Given the description of an element on the screen output the (x, y) to click on. 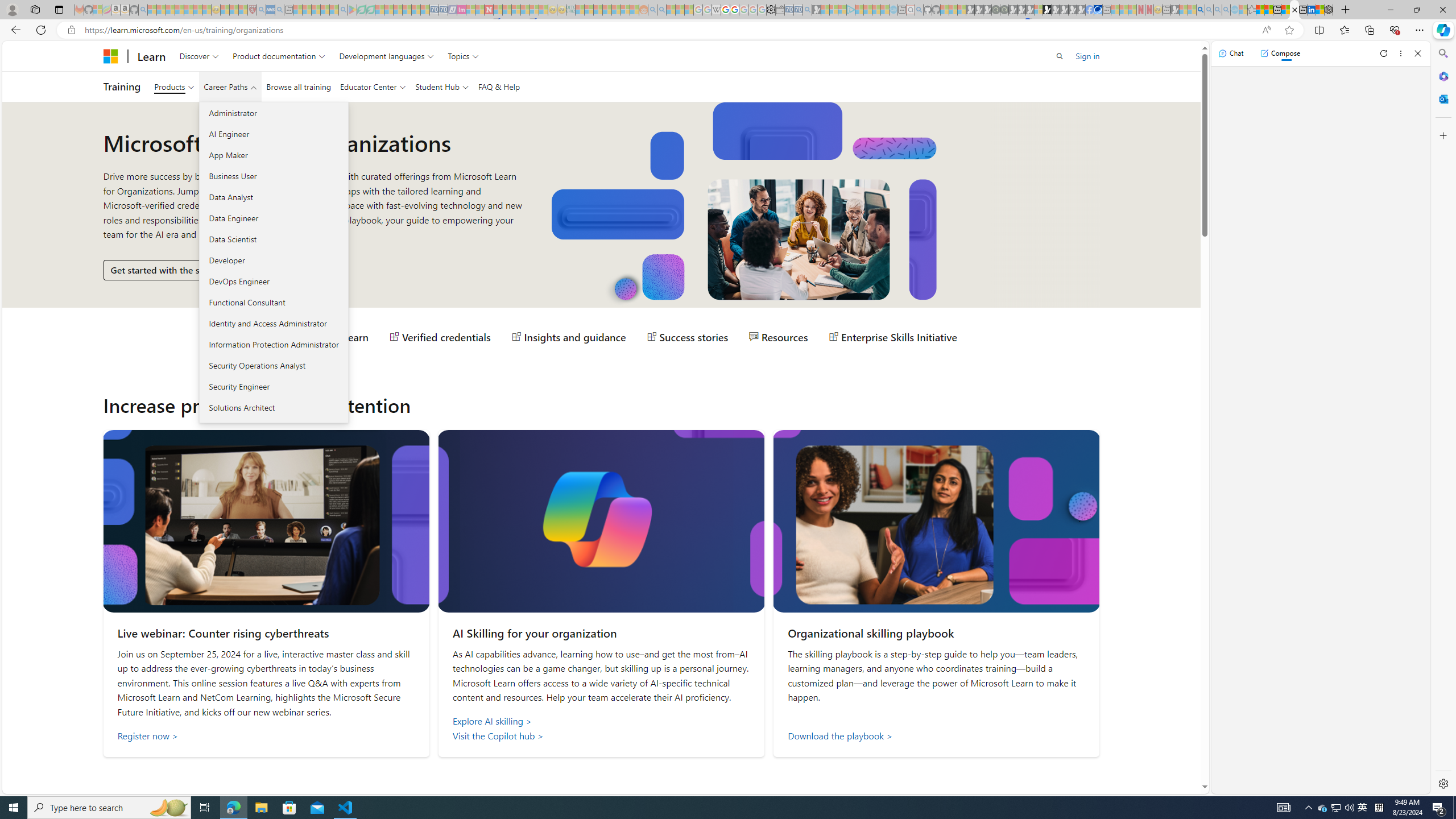
Sign in to your account - Sleeping (1038, 9)
Browse all training (298, 86)
Security Operations Analyst (273, 364)
DevOps Engineer (273, 281)
Developer (273, 260)
Development languages (386, 55)
Solutions Architect (273, 407)
Products (174, 86)
